Given the description of an element on the screen output the (x, y) to click on. 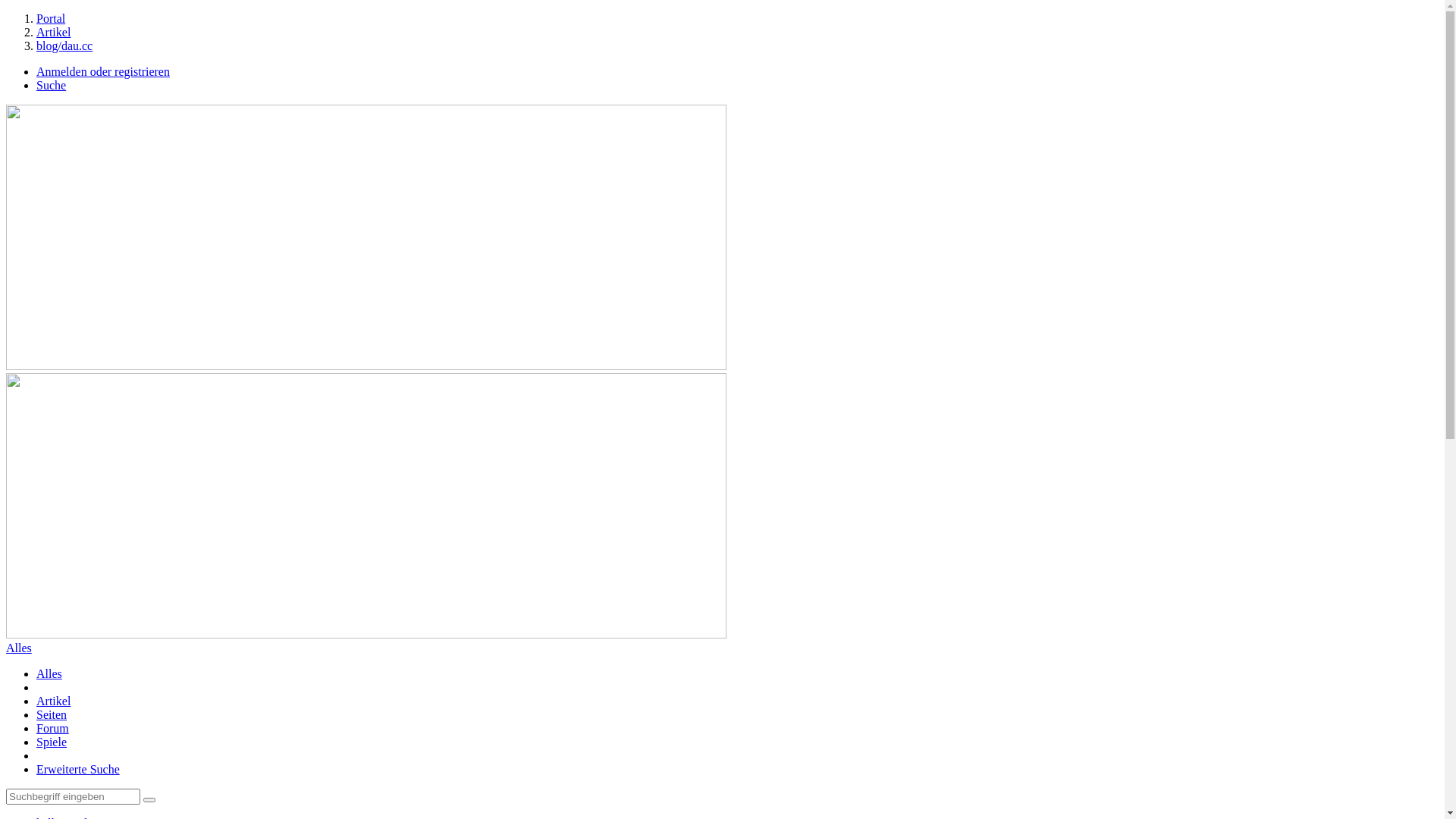
Anmelden oder registrieren Element type: text (102, 71)
Seiten Element type: text (51, 714)
Artikel Element type: text (53, 700)
Artikel Element type: text (53, 31)
blog/dau.cc Element type: text (64, 45)
Spiele Element type: text (51, 741)
Alles Element type: text (18, 647)
Erweiterte Suche Element type: text (77, 768)
Portal Element type: text (50, 18)
Suche Element type: text (50, 84)
Alles Element type: text (49, 673)
Forum Element type: text (52, 727)
